Given the description of an element on the screen output the (x, y) to click on. 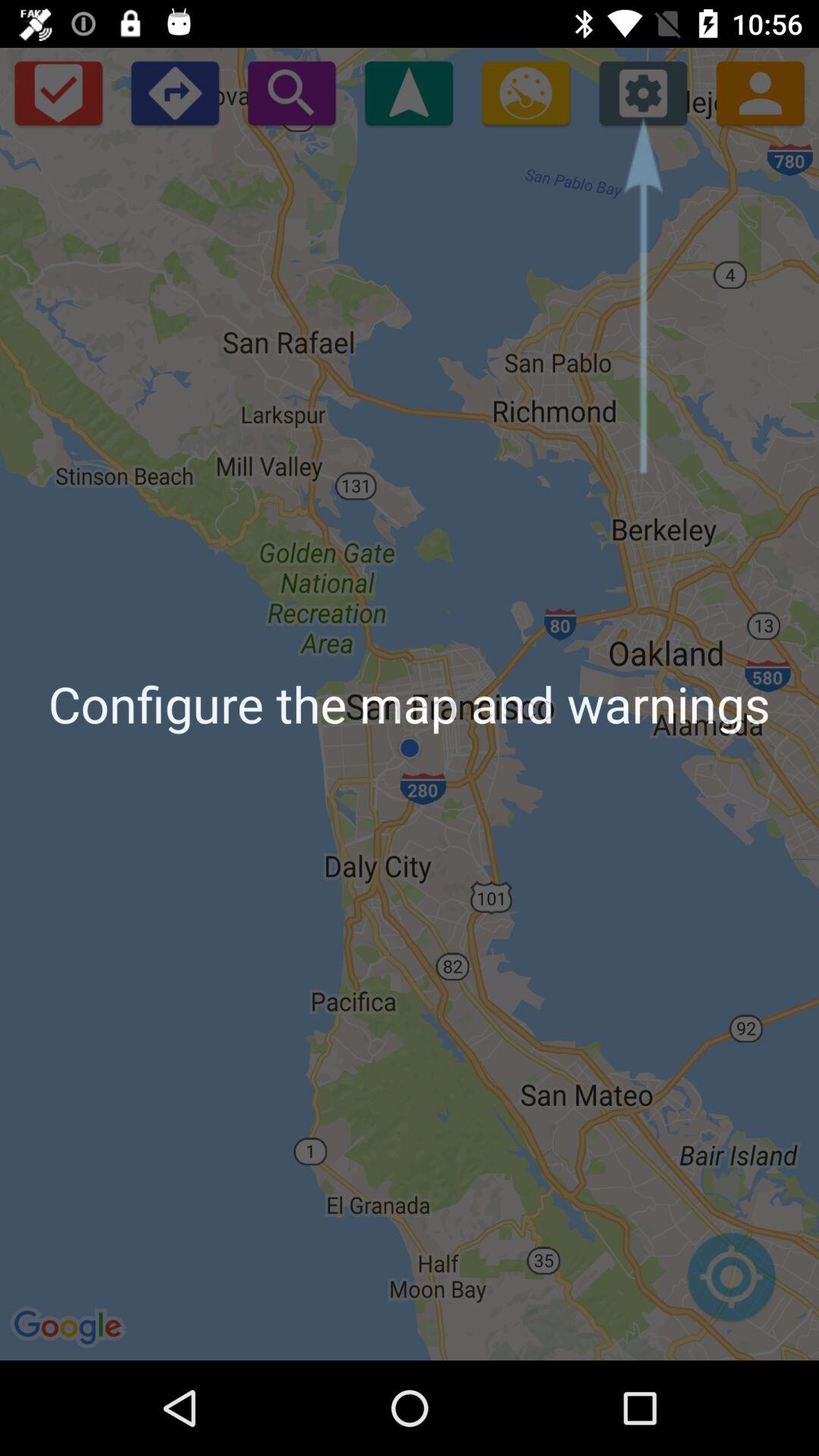
press icon above the configure the map item (58, 92)
